Given the description of an element on the screen output the (x, y) to click on. 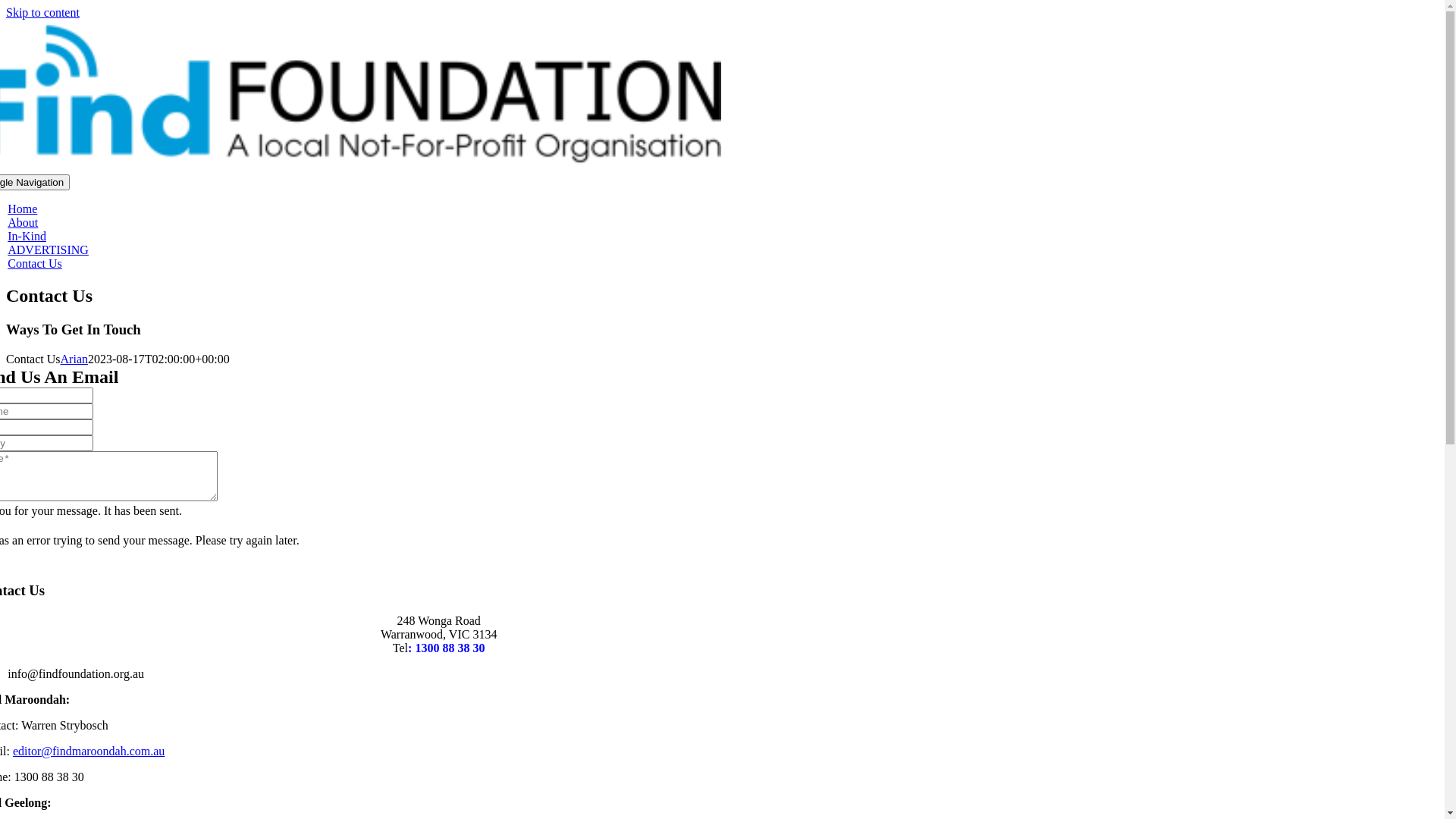
Contact Us Element type: text (34, 263)
Home Element type: text (22, 208)
Skip to content Element type: text (42, 12)
About Element type: text (22, 222)
In-Kind Element type: text (26, 235)
ADVERTISING Element type: text (47, 249)
editor@findmaroondah.com.au Element type: text (88, 750)
Arian Element type: text (73, 358)
